Given the description of an element on the screen output the (x, y) to click on. 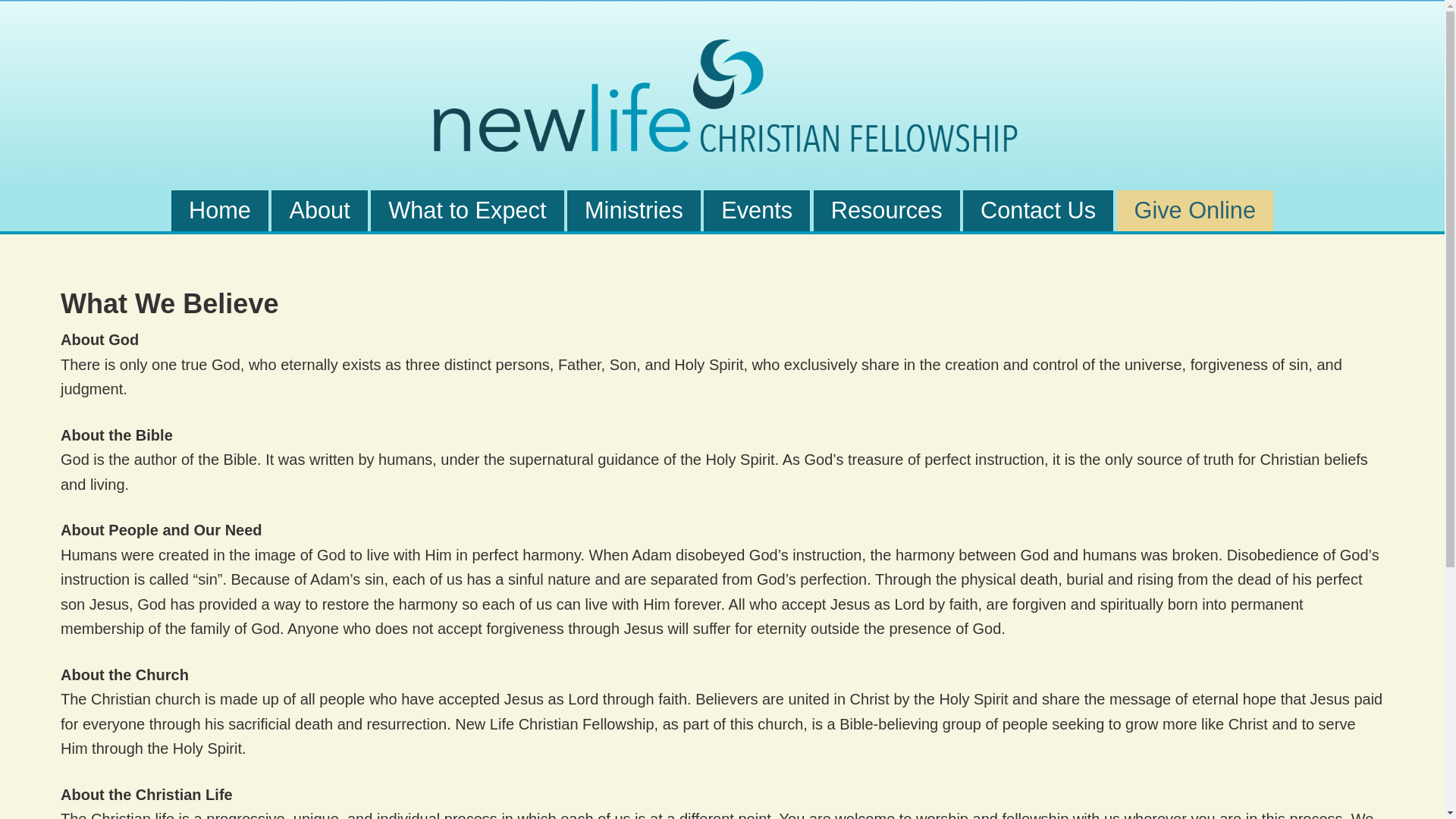
Resources (886, 210)
Ministries (633, 210)
Events (756, 210)
Home (219, 210)
Contact Us (1037, 210)
What to Expect (467, 210)
About (318, 210)
New Life Christian Fellowship (721, 95)
Give Online (1194, 210)
